Given the description of an element on the screen output the (x, y) to click on. 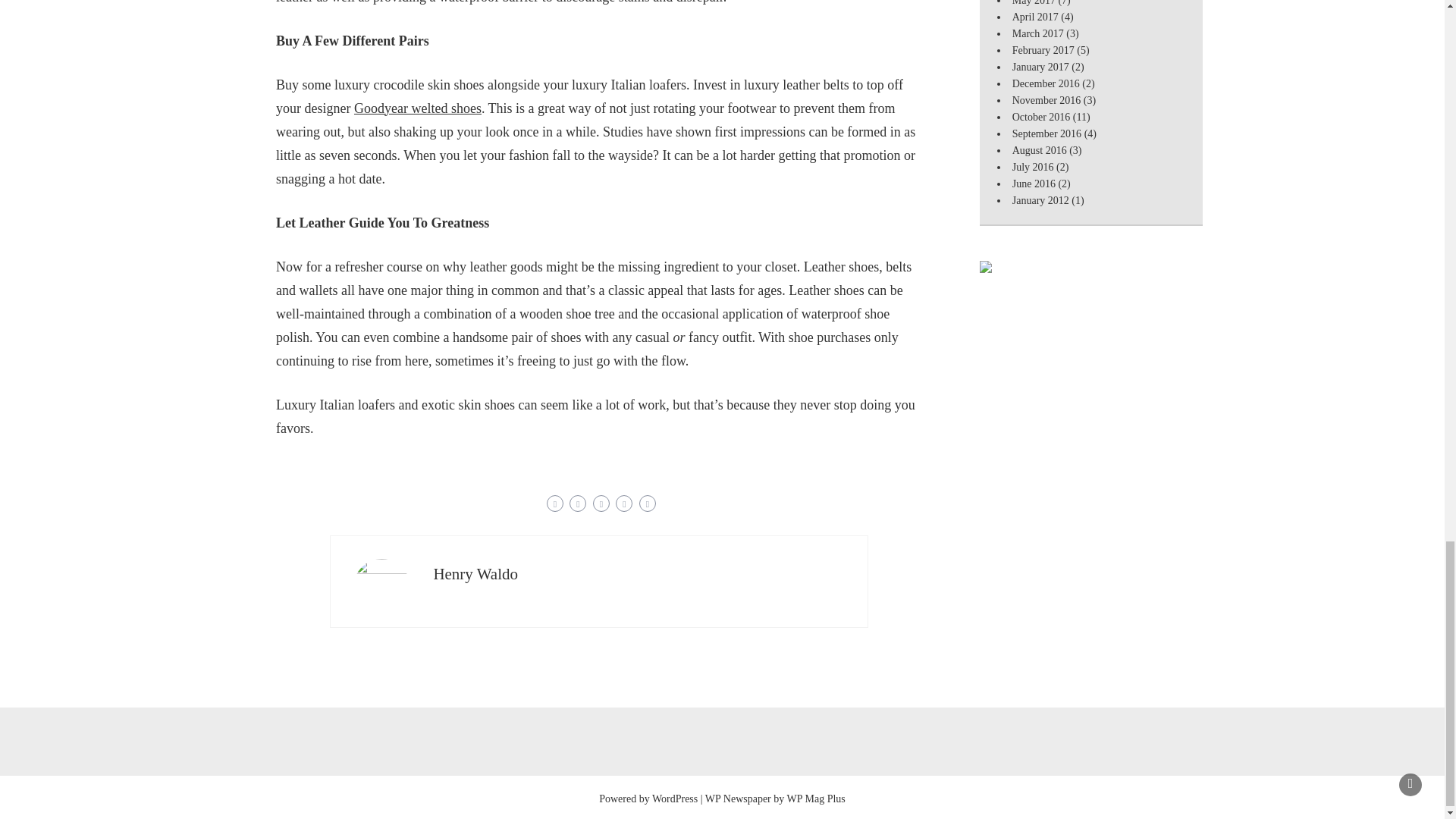
Henry Waldo (475, 573)
Goodyear welted shoes (417, 107)
Get more info about Exotic mens boots (417, 107)
